Given the description of an element on the screen output the (x, y) to click on. 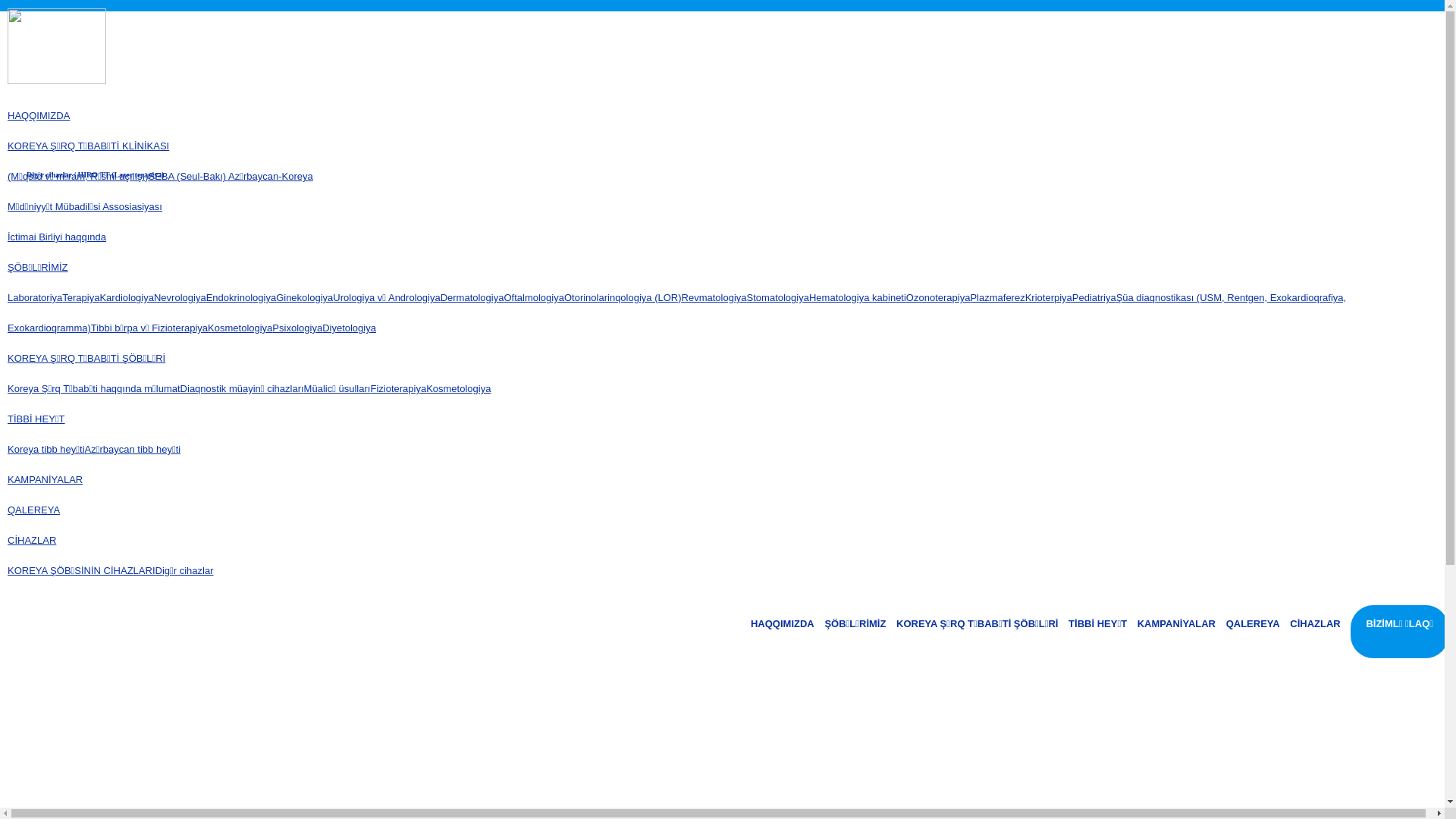
Kardiologiya Element type: text (126, 297)
HAQQIMIZDA Element type: text (38, 115)
Kosmetologiya Element type: text (239, 327)
Fizioterapiya Element type: text (398, 388)
Dermatologiya Element type: text (472, 297)
Ru Element type: text (1410, 17)
Endokrinologiya Element type: text (241, 297)
Plazmaferez Element type: text (996, 297)
Krioterpiya Element type: text (1048, 297)
HAQQIMIZDA Element type: text (782, 623)
Az Element type: text (1393, 17)
Nevrologiya Element type: text (179, 297)
Diyetologiya Element type: text (349, 327)
En Element type: text (1429, 17)
Revmatologiya Element type: text (713, 297)
Stomatologiya Element type: text (777, 297)
Terapiya Element type: text (80, 297)
Pediatriya Element type: text (1094, 297)
Kosmetologiya Element type: text (458, 388)
Otorinolarinqologiya (LOR) Element type: text (622, 297)
Hematologiya kabineti Element type: text (857, 297)
Ozonoterapiya Element type: text (938, 297)
Ginekologiya Element type: text (304, 297)
Oftalmologiya Element type: text (533, 297)
QALEREYA Element type: text (1253, 623)
Psixologiya Element type: text (297, 327)
Laboratoriya Element type: text (34, 297)
QALEREYA Element type: text (33, 509)
